Given the description of an element on the screen output the (x, y) to click on. 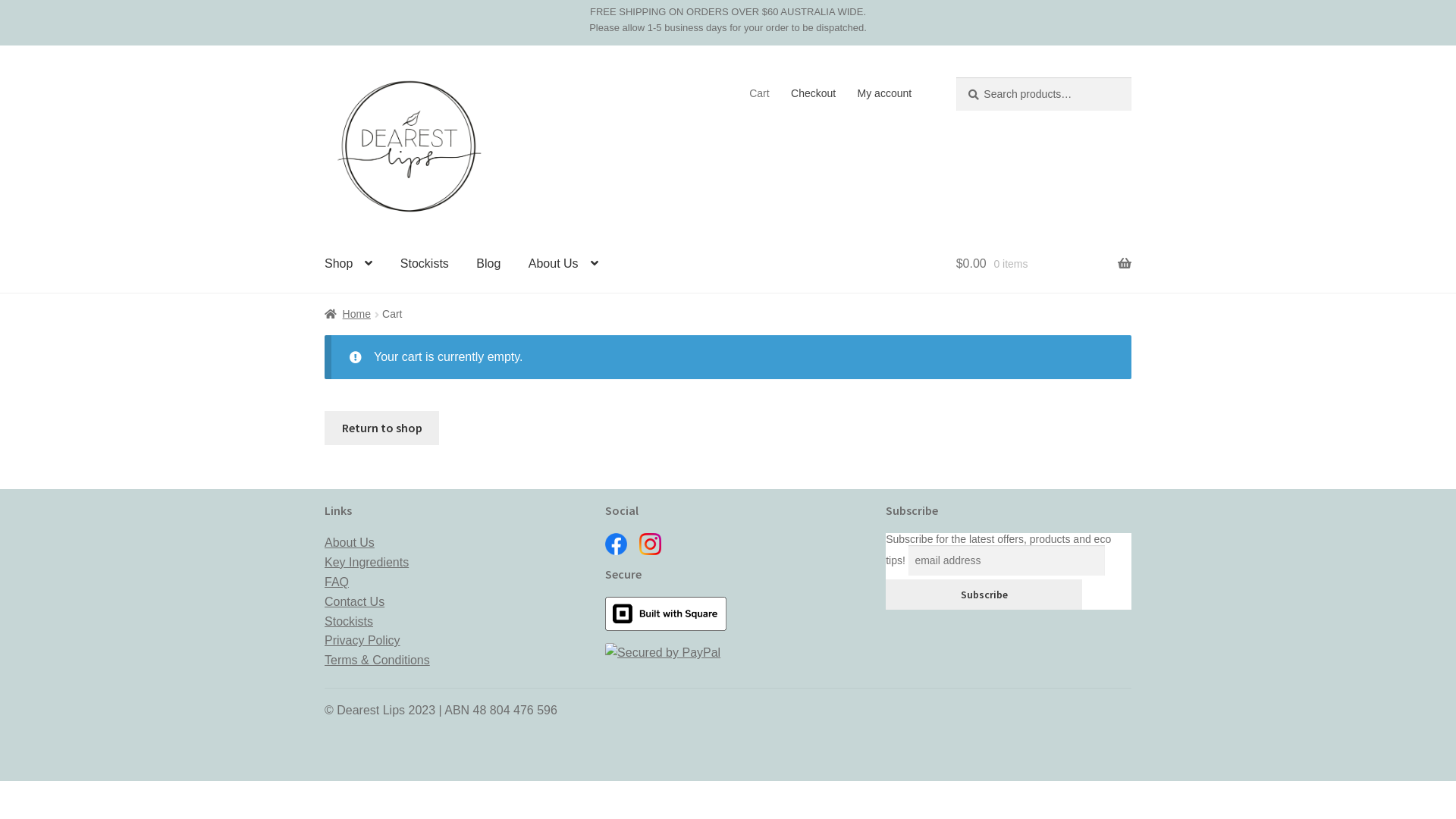
FAQ Element type: text (336, 581)
Secured by PayPal Element type: hover (727, 652)
My account Element type: text (883, 93)
Home Element type: text (347, 313)
Stockists Element type: text (424, 263)
About Us Element type: text (563, 263)
Stockists Element type: text (348, 621)
Key Ingredients Element type: text (366, 561)
Terms & Conditions Element type: text (376, 659)
Shop Element type: text (348, 263)
Skip to navigation Element type: text (323, 76)
Contact Us Element type: text (354, 601)
Search Element type: text (955, 76)
Privacy Policy Element type: text (362, 639)
$0.00 0 items Element type: text (1043, 263)
Return to shop Element type: text (381, 428)
Blog Element type: text (488, 263)
Checkout Element type: text (813, 93)
Subscribe Element type: text (983, 594)
Cart Element type: text (759, 93)
About Us Element type: text (349, 542)
